Given the description of an element on the screen output the (x, y) to click on. 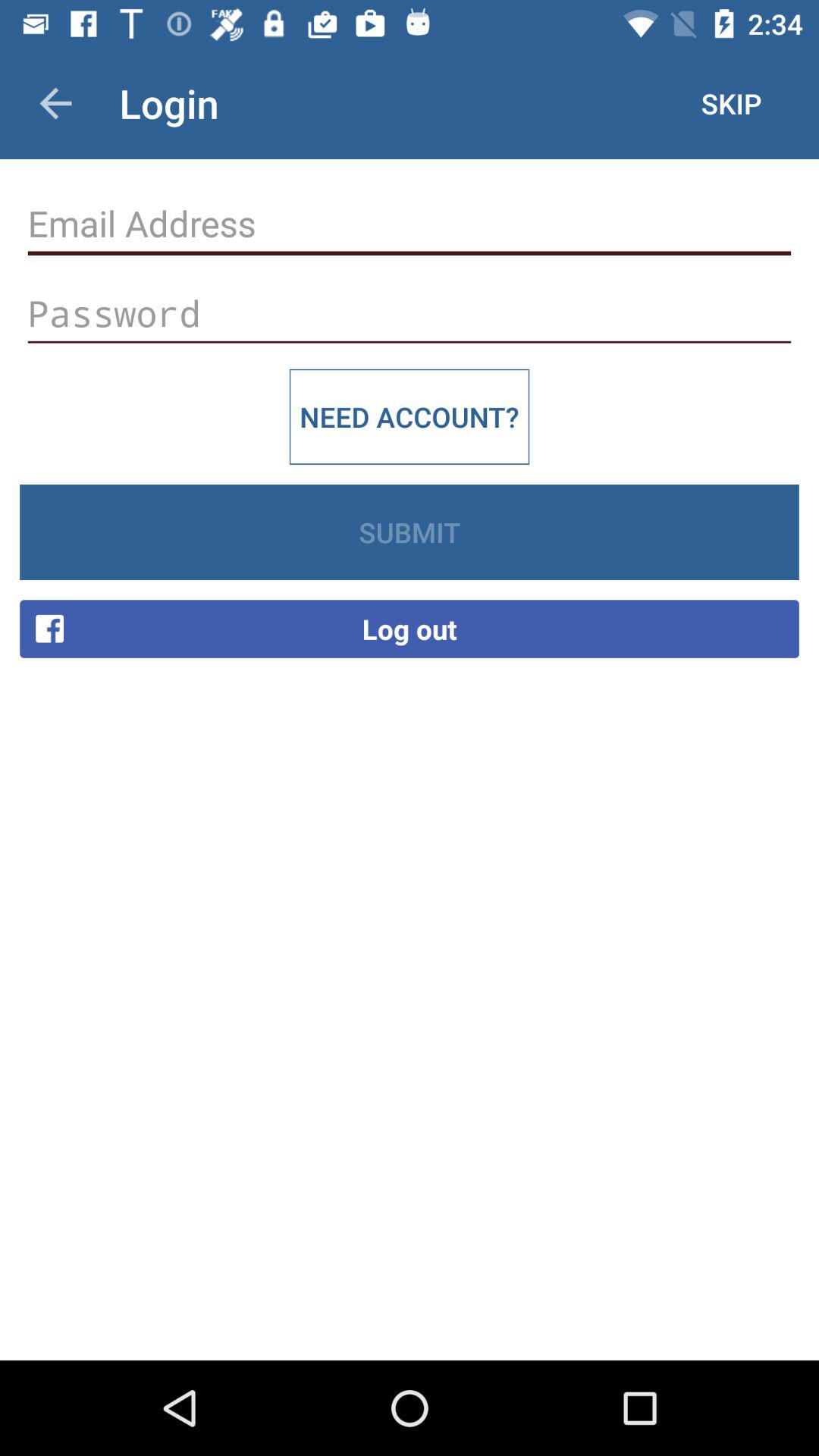
tap the item at the top right corner (731, 103)
